Given the description of an element on the screen output the (x, y) to click on. 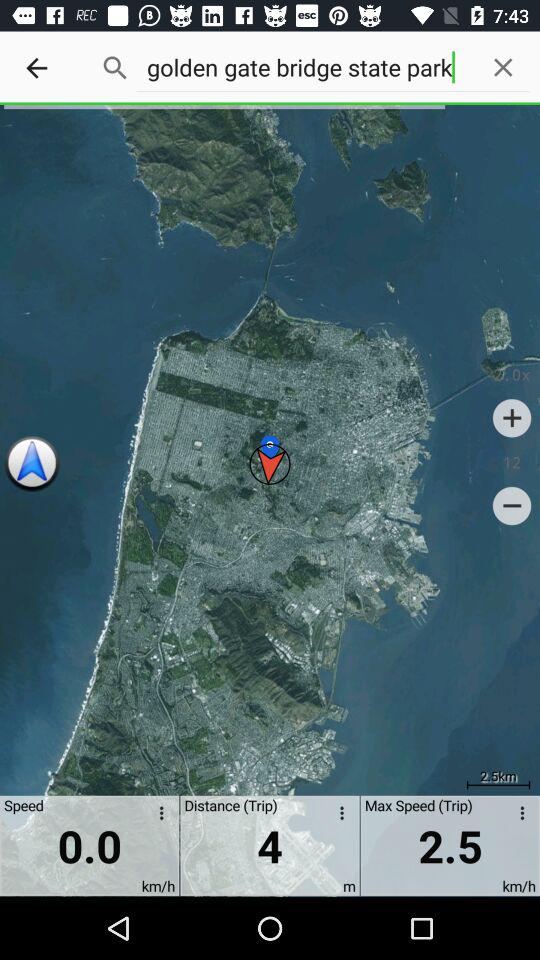
click on the text which is just right to the search icon (418, 72)
click on the  icon (511, 417)
select the options icon above the number 4 (339, 816)
